Given the description of an element on the screen output the (x, y) to click on. 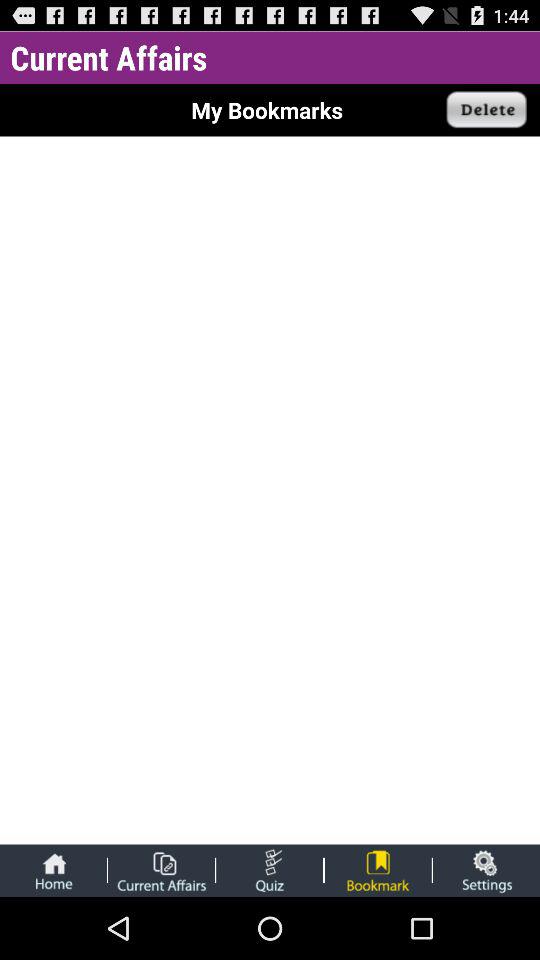
the home bar (53, 870)
